Given the description of an element on the screen output the (x, y) to click on. 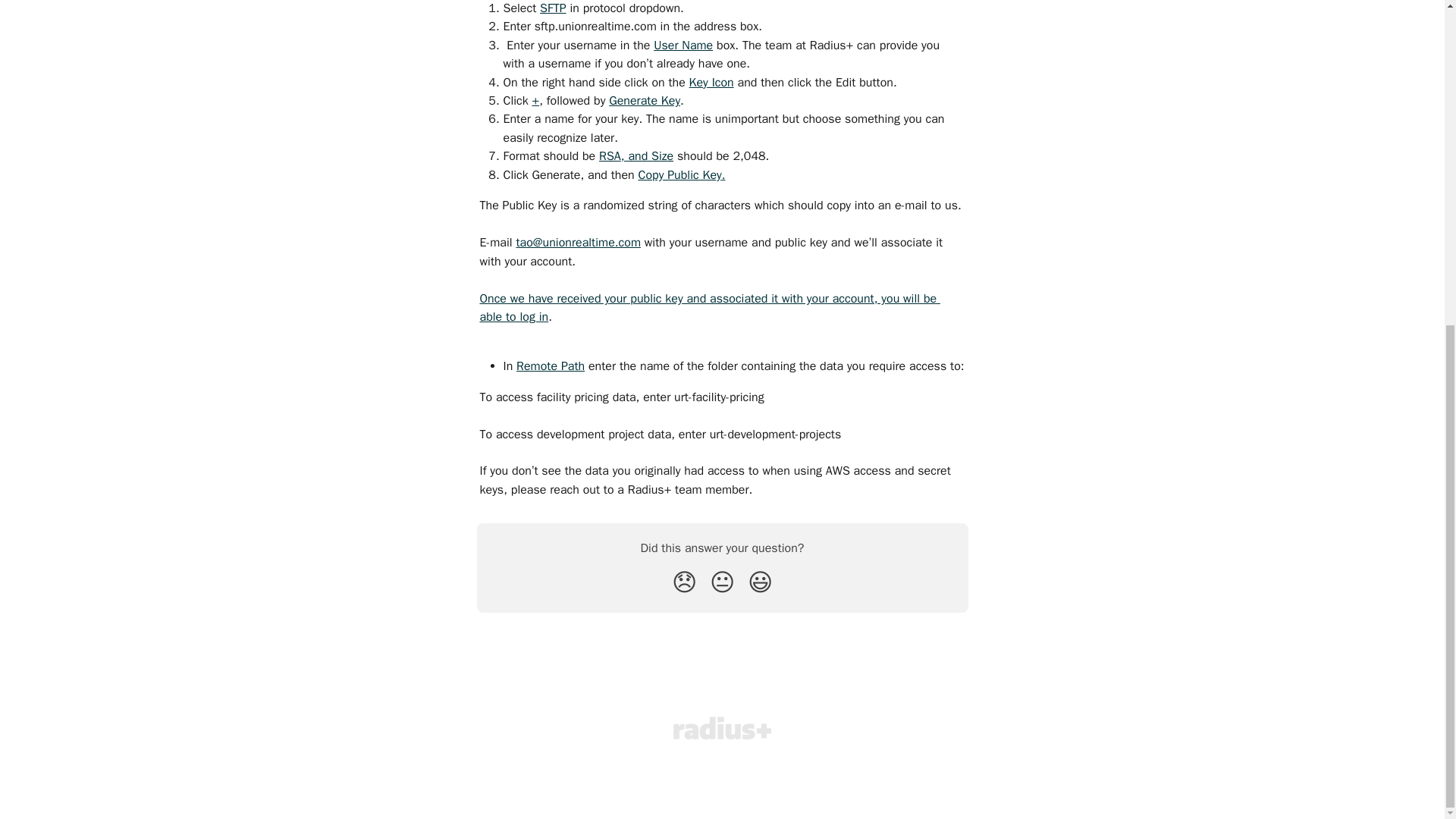
Key Icon (710, 82)
, and Size (646, 155)
Remote Path (550, 365)
SFTP (553, 7)
Copy Public Key (678, 174)
User Name (683, 45)
Generate Key (643, 100)
RSA (609, 155)
